Given the description of an element on the screen output the (x, y) to click on. 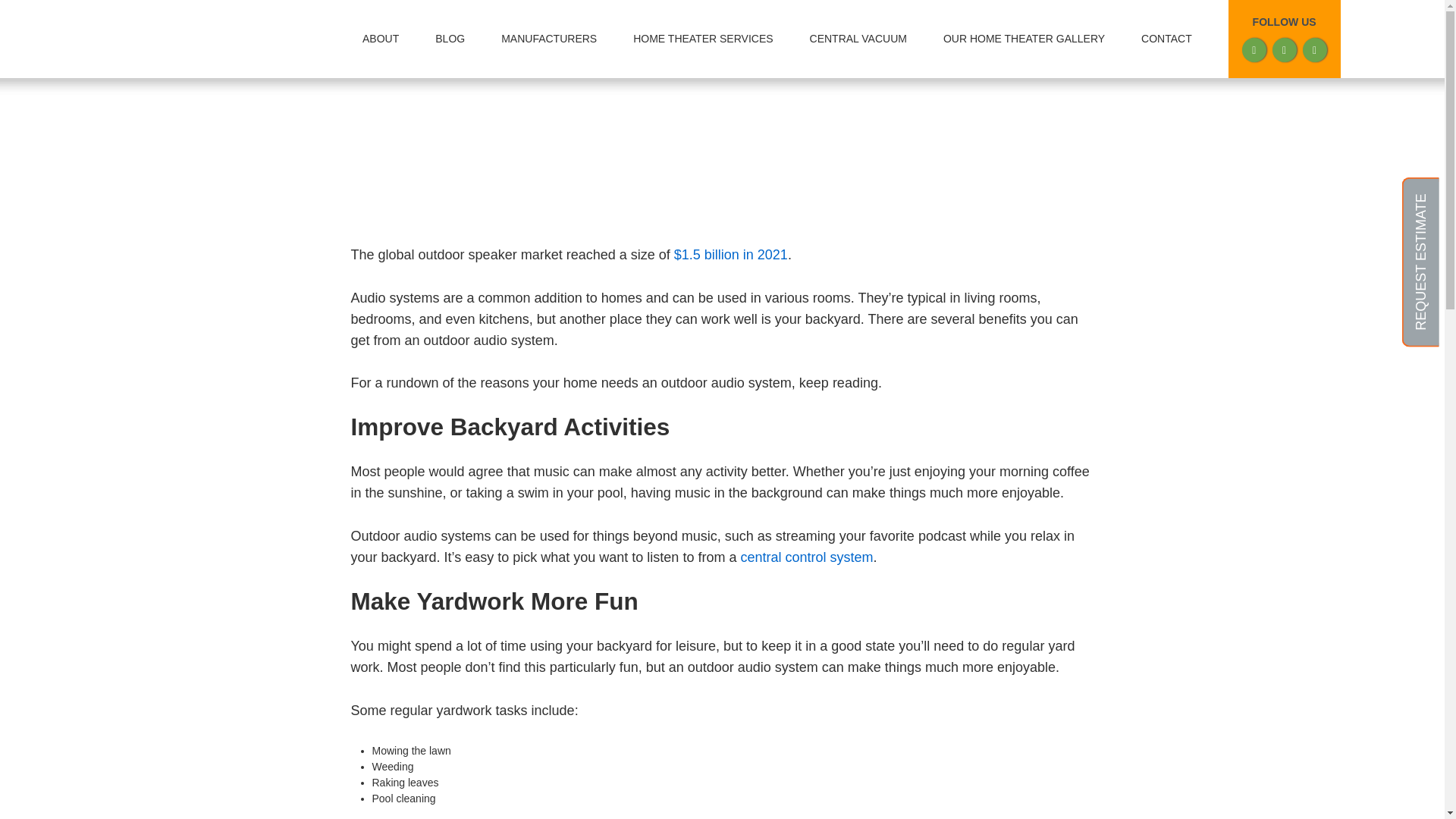
HOME THEATER SERVICES (702, 38)
central control system (805, 557)
MANUFACTURERS (548, 38)
CENTRAL VACUUM (857, 38)
OUR HOME THEATER GALLERY (1023, 38)
